Given the description of an element on the screen output the (x, y) to click on. 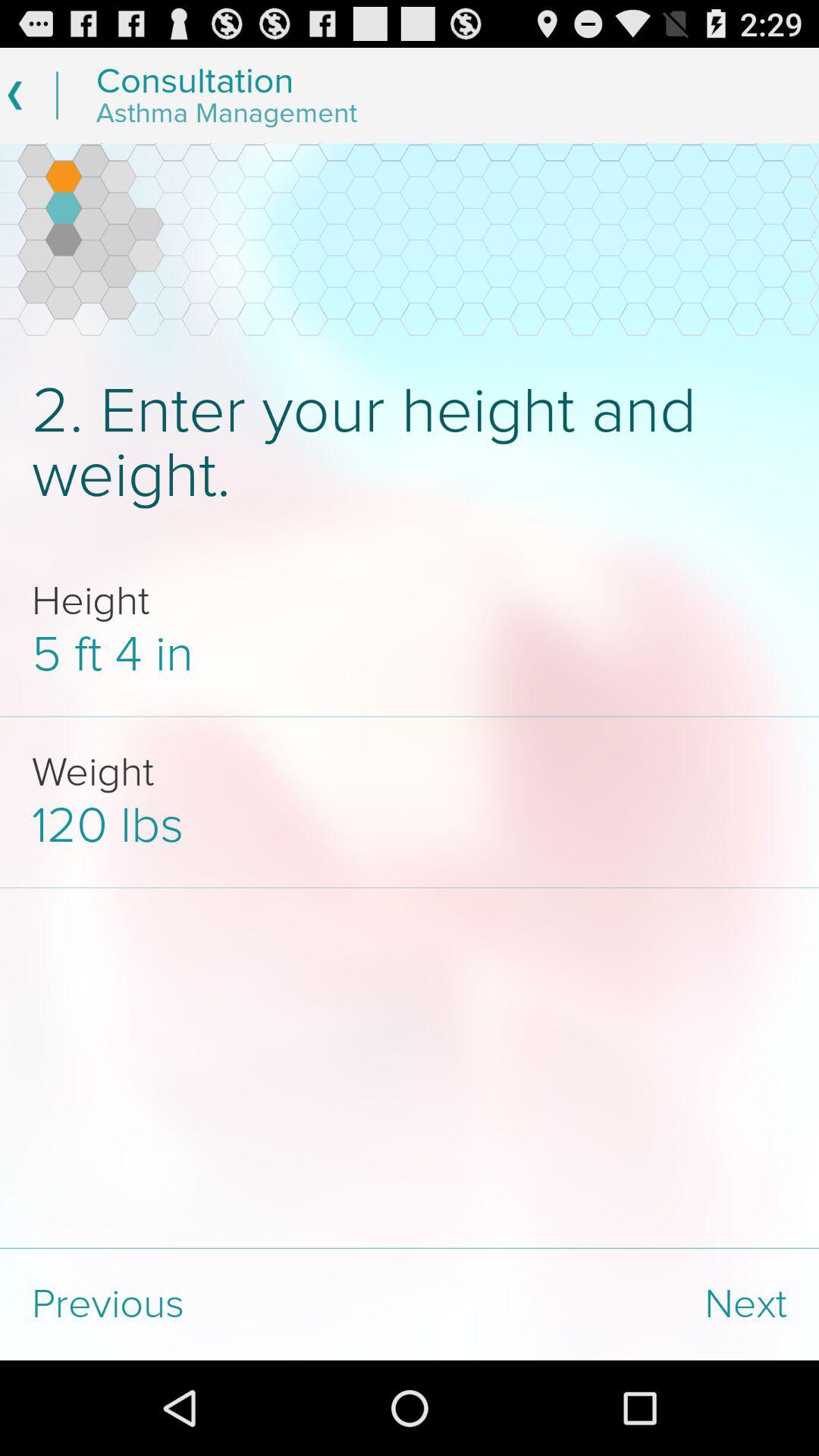
turn on icon above the weight app (409, 654)
